Given the description of an element on the screen output the (x, y) to click on. 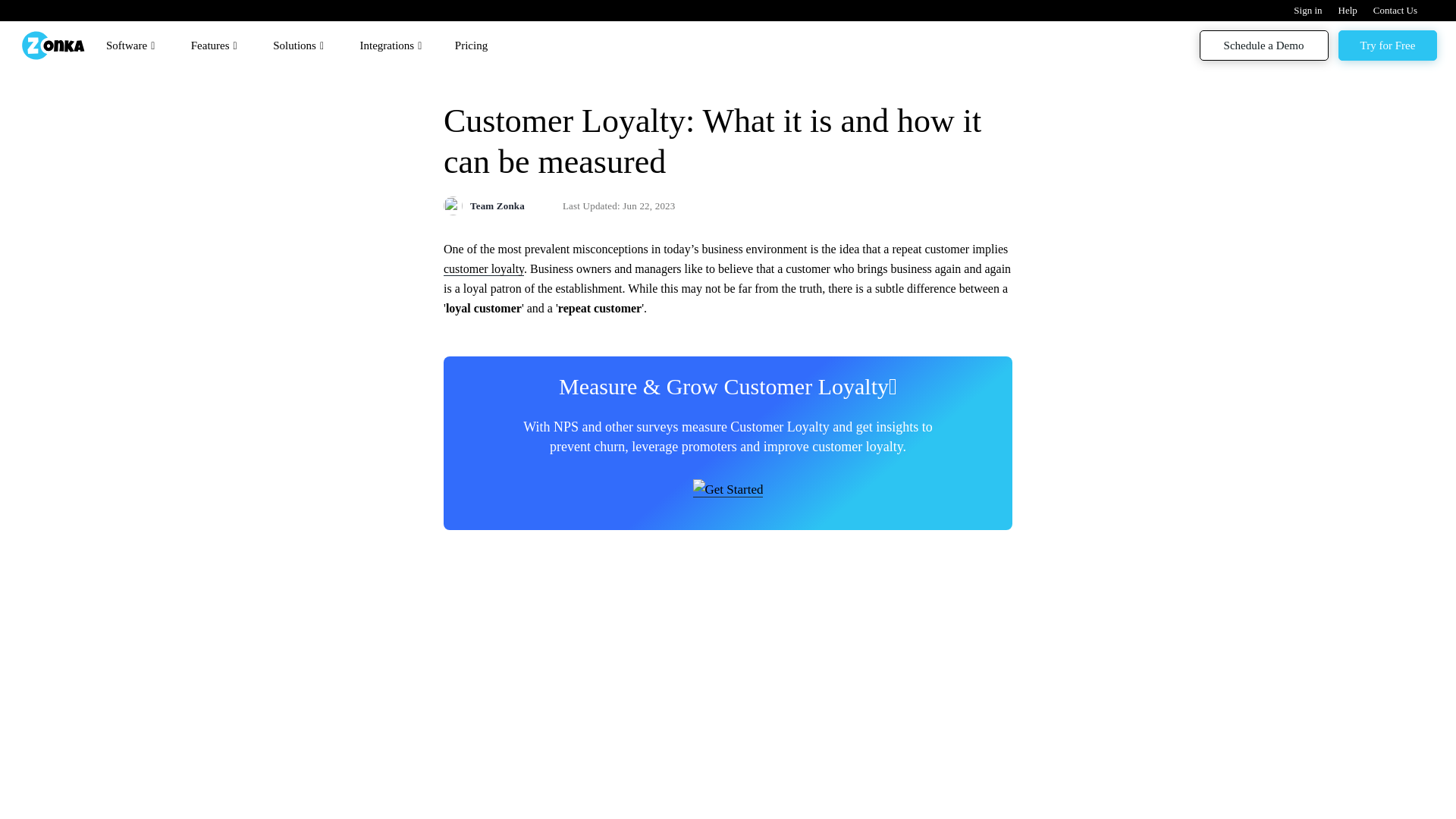
Sign in (1316, 9)
Contact Us (1402, 9)
Posts by Team Zonka (497, 206)
Features (215, 51)
Help (1355, 9)
Software (132, 51)
